Given the description of an element on the screen output the (x, y) to click on. 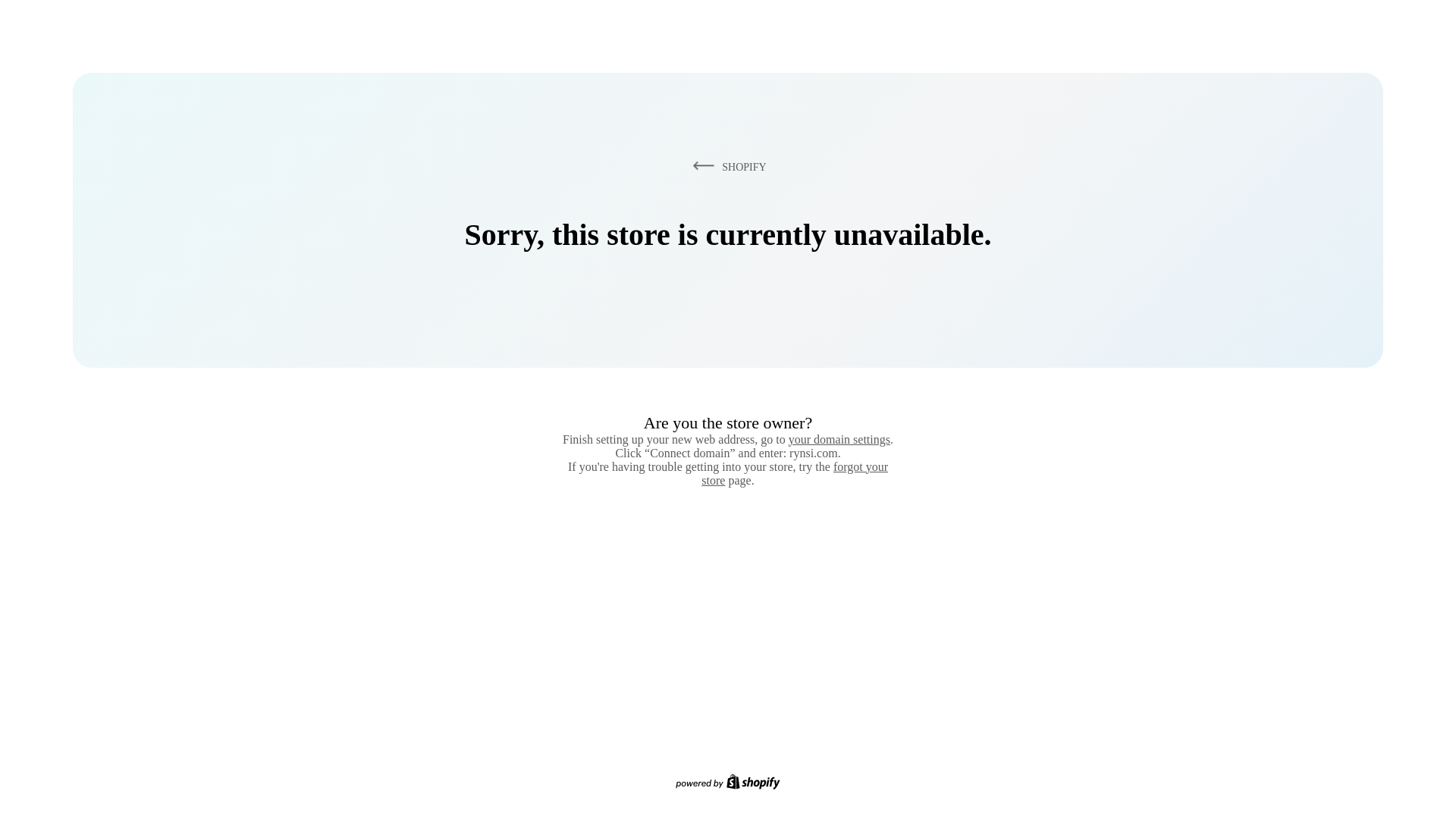
forgot your store (794, 473)
your domain settings (839, 439)
SHOPIFY (726, 166)
